Given the description of an element on the screen output the (x, y) to click on. 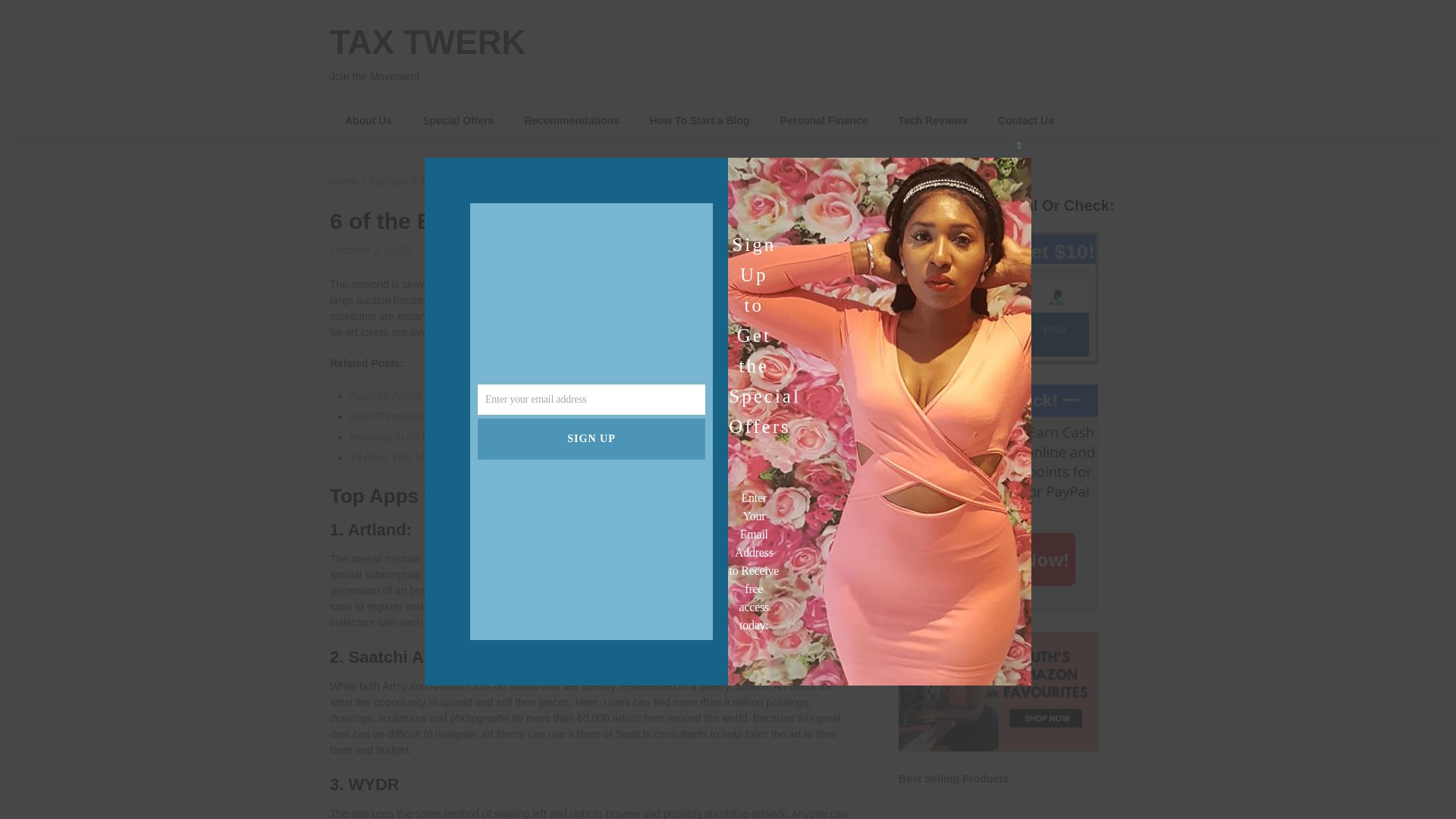
Home (344, 181)
Recommendations (570, 121)
best apps for collecting art (676, 331)
14 Apps That Make Money While You Sleep! (454, 457)
How To Start a Blog (699, 121)
About Us (368, 121)
How To Start a Blog (699, 121)
Best Chromebook For Artists (418, 416)
Special Offers (457, 121)
Tech Reviews (933, 121)
Apps for Artists to Sell Work (415, 395)
Personal Finance (824, 121)
Investing in Art for Beginners Without A Million Dollars (476, 436)
Tech Reviews (933, 121)
Recommendations (570, 121)
